Given the description of an element on the screen output the (x, y) to click on. 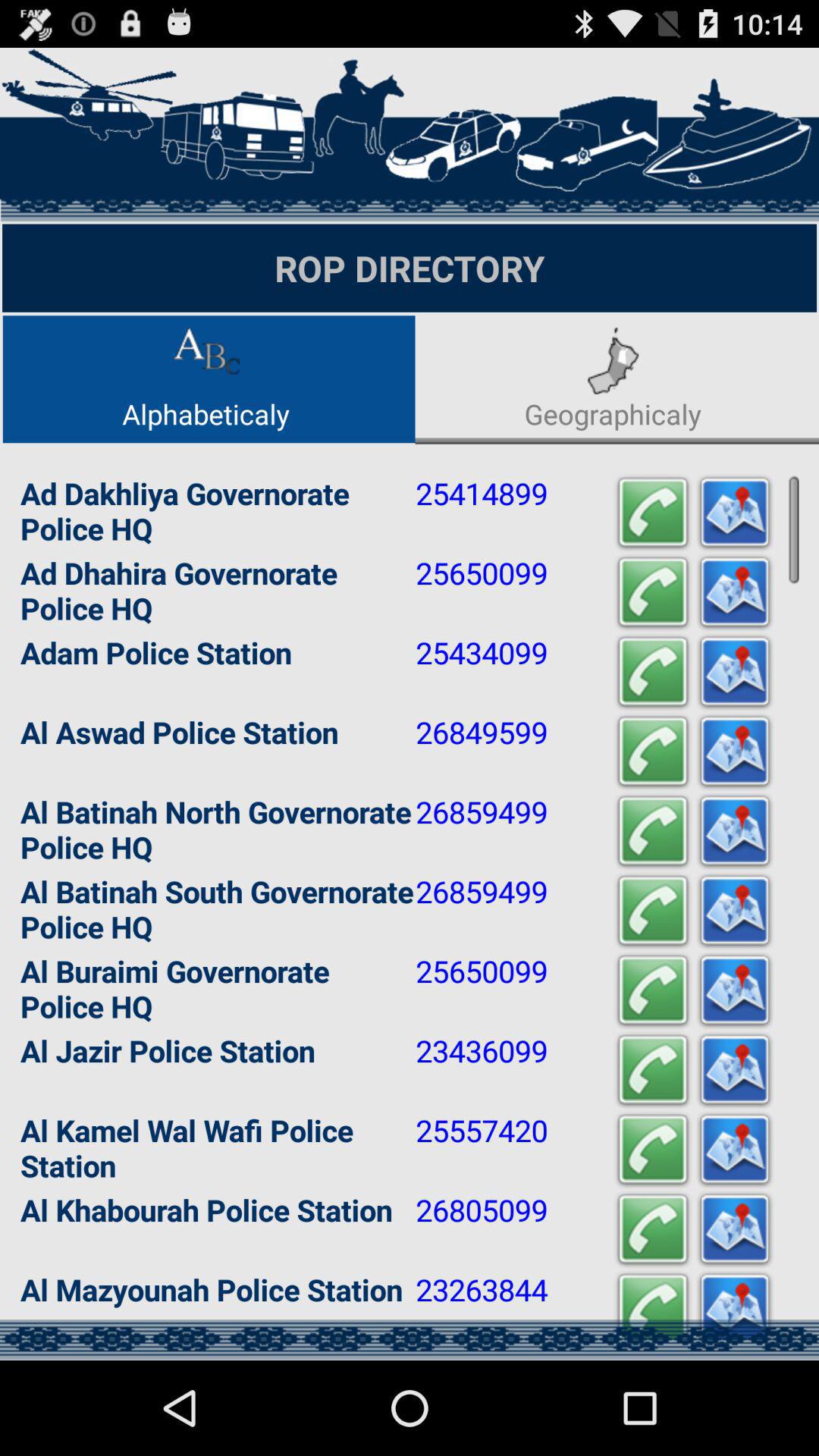
phone (652, 512)
